Given the description of an element on the screen output the (x, y) to click on. 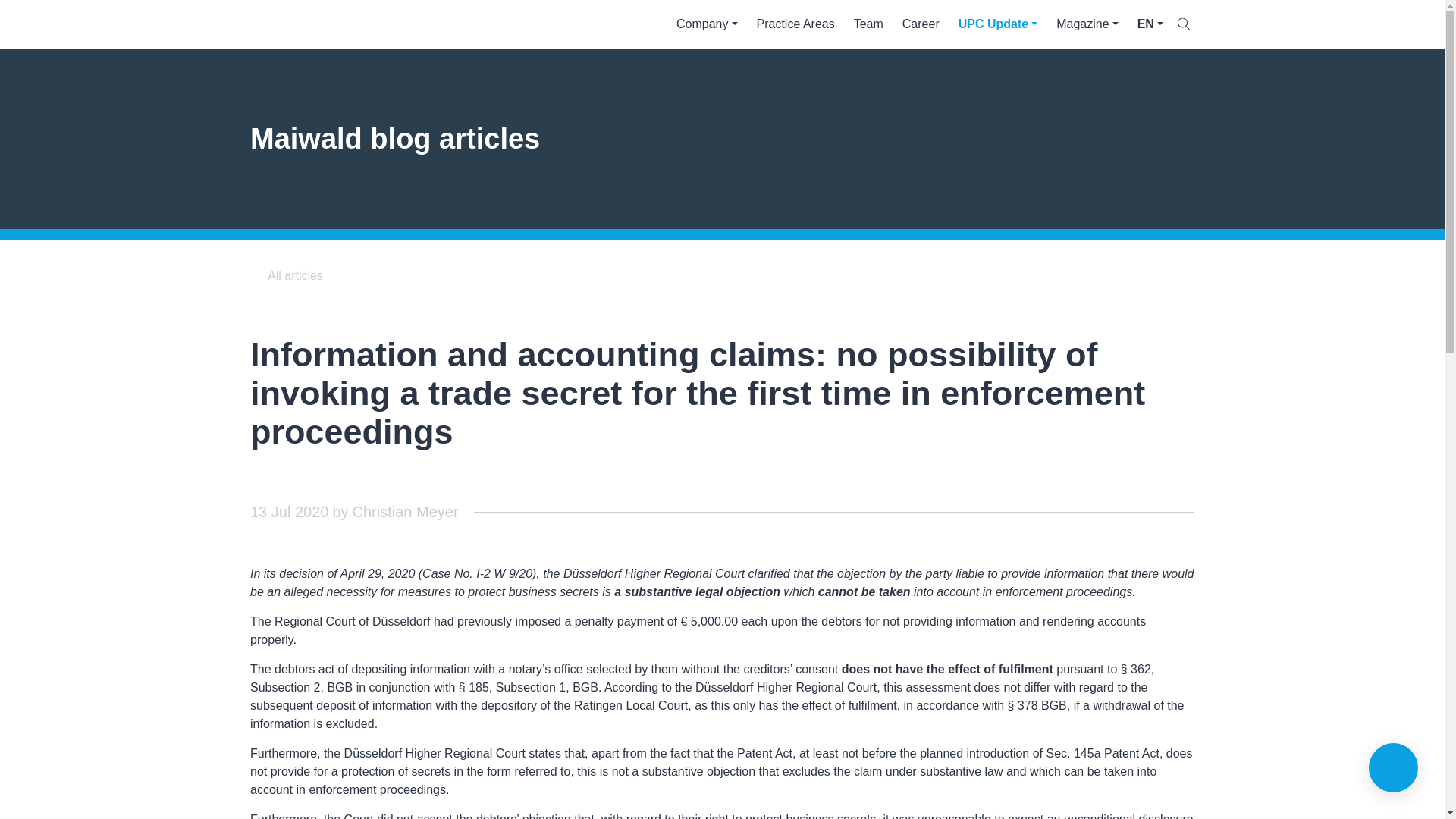
UPC Update (998, 24)
Career (920, 24)
All articles (286, 275)
Company (707, 24)
Christian Meyer (405, 511)
Team (868, 24)
Practice Areas (795, 24)
Magazine (1087, 24)
